Given the description of an element on the screen output the (x, y) to click on. 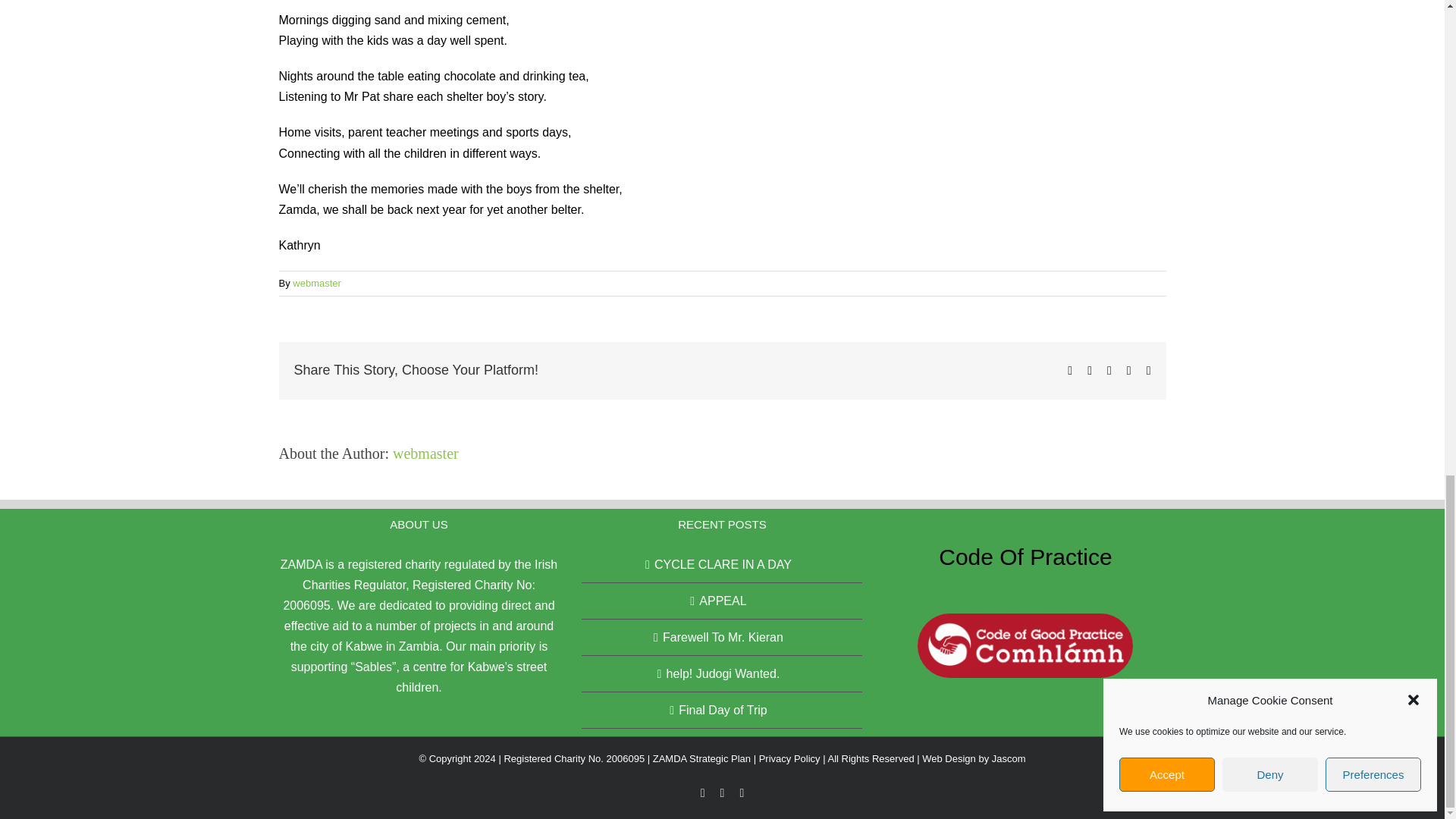
Posts by webmaster (425, 453)
webmaster (316, 283)
Posts by webmaster (316, 283)
